Given the description of an element on the screen output the (x, y) to click on. 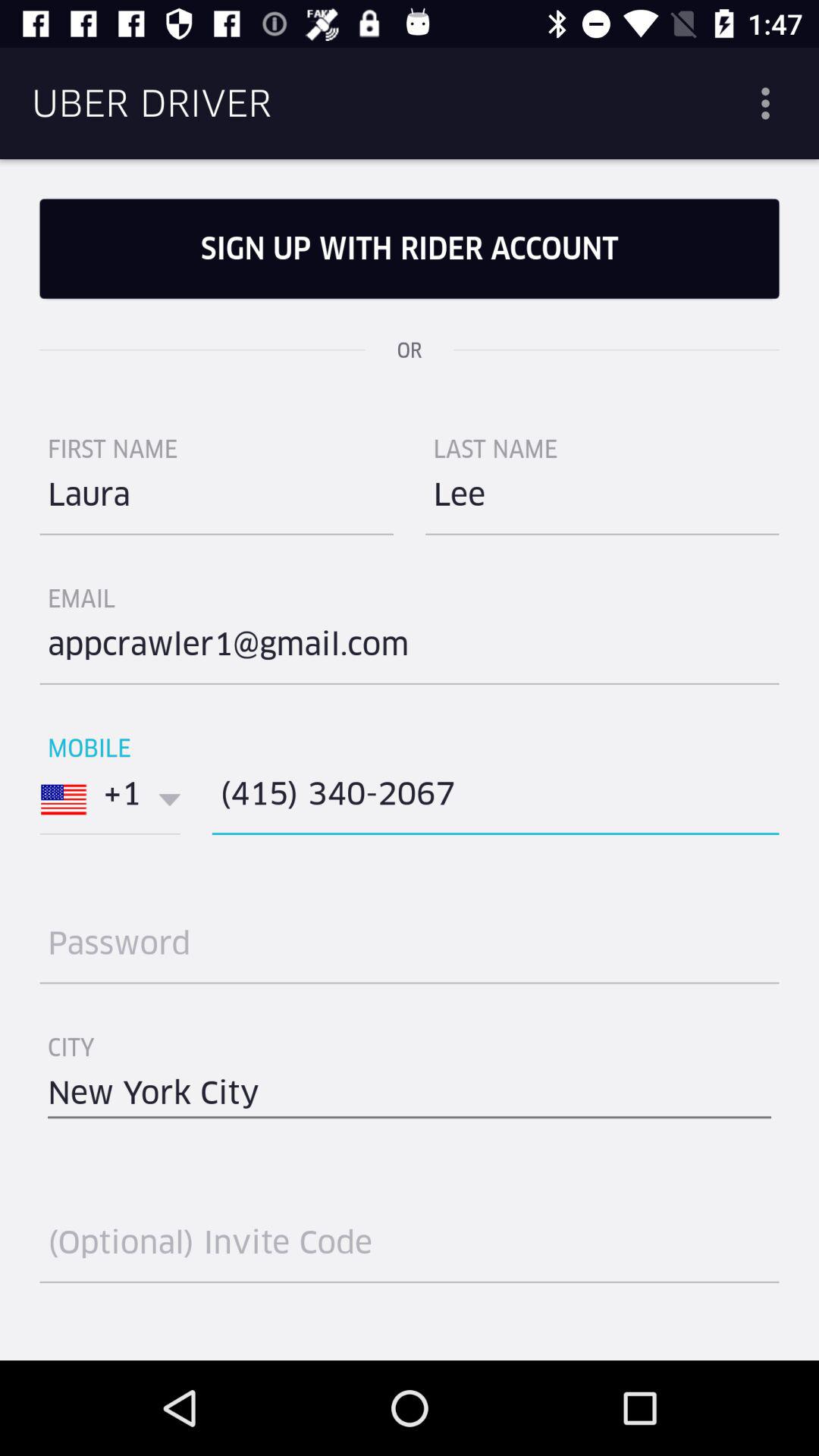
select icon above the email icon (216, 500)
